Given the description of an element on the screen output the (x, y) to click on. 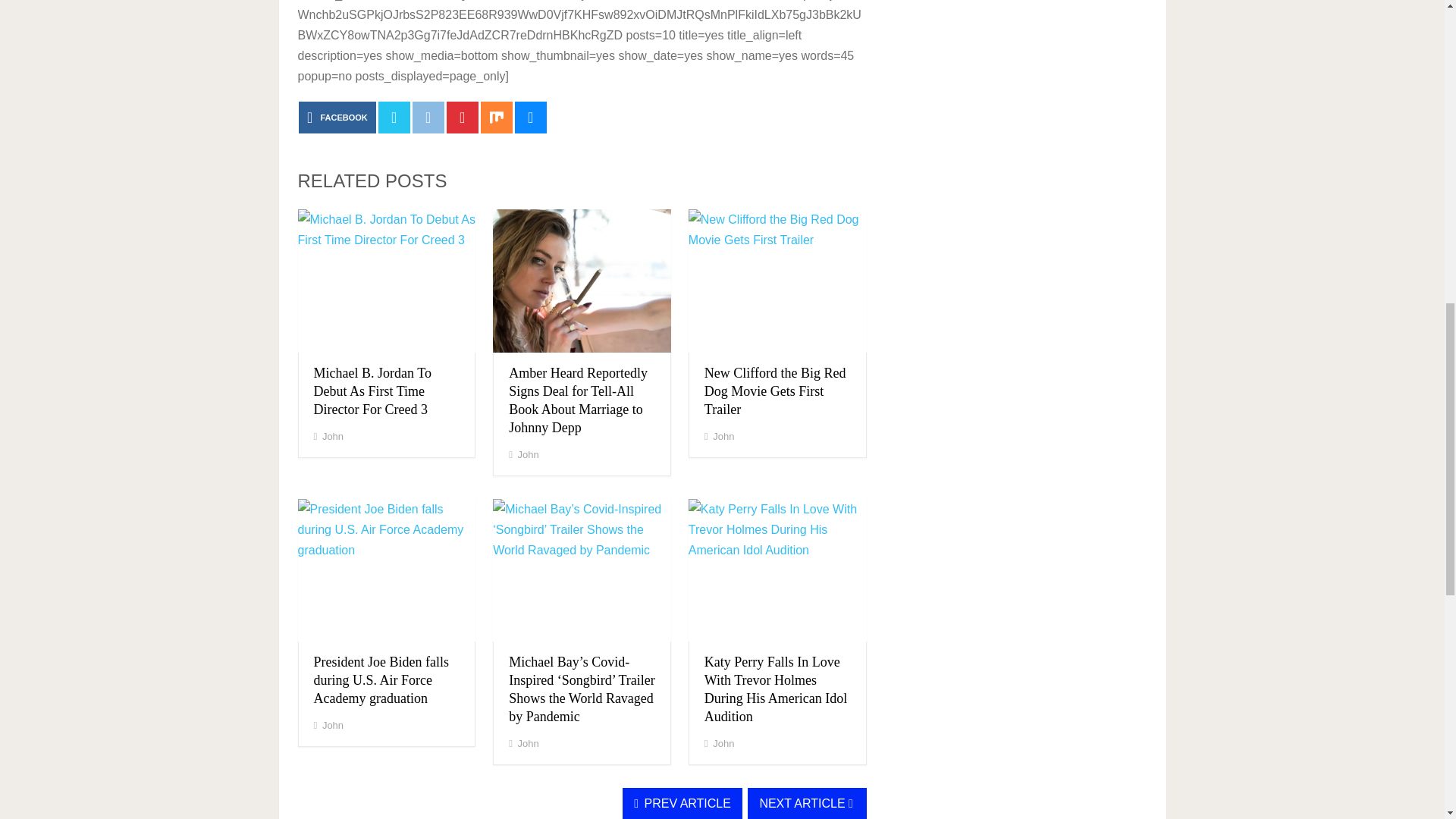
New Clifford the Big Red Dog Movie Gets First Trailer (777, 280)
FACEBOOK (336, 117)
John (723, 436)
New Clifford the Big Red Dog Movie Gets First Trailer (774, 390)
Posts by John (528, 454)
Posts by John (332, 436)
New Clifford the Big Red Dog Movie Gets First Trailer (774, 390)
John (332, 725)
John (528, 454)
